Given the description of an element on the screen output the (x, y) to click on. 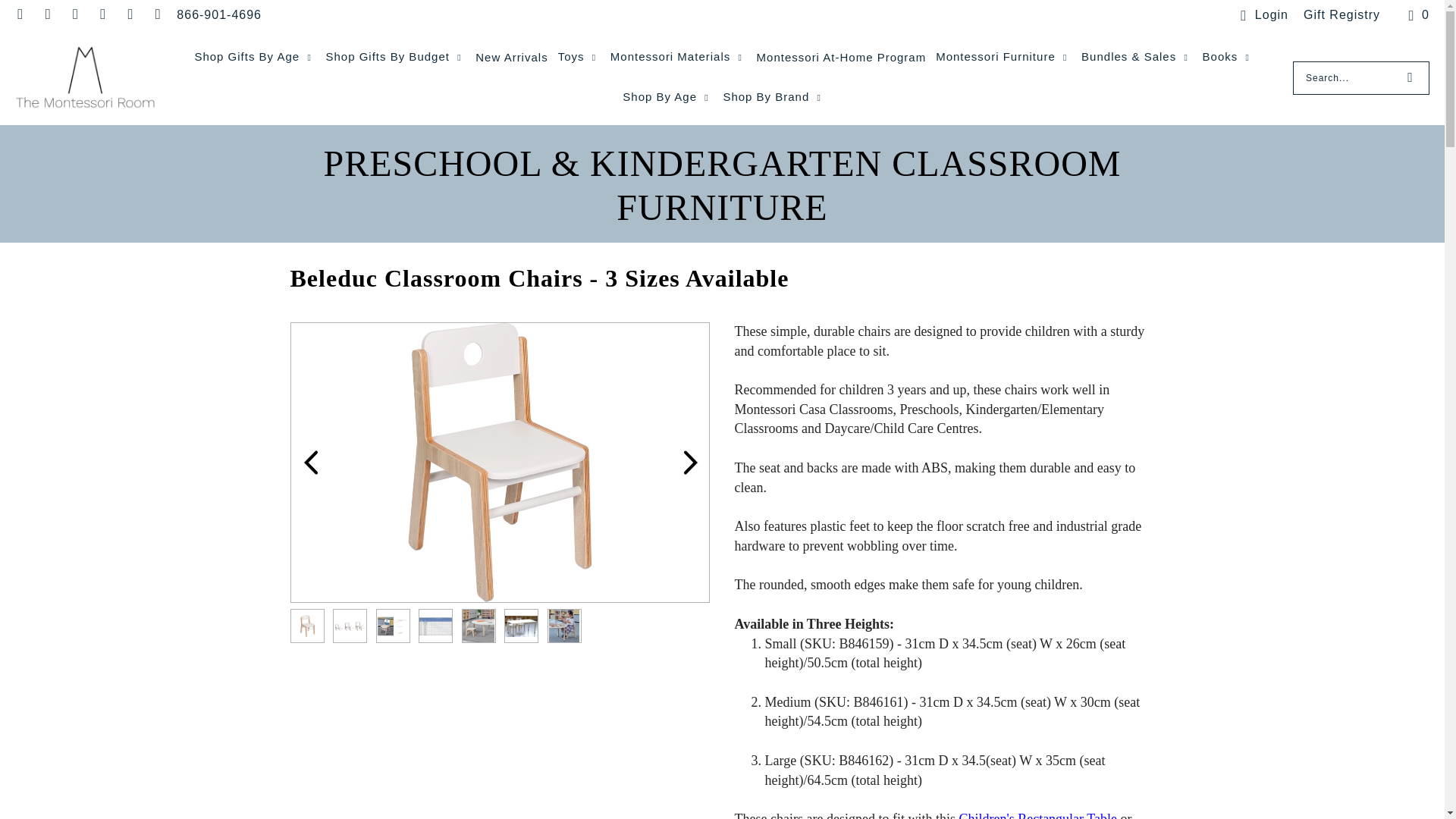
The Montessori Room on Facebook (47, 14)
Go to the next slide (690, 462)
The Montessori Room (84, 77)
Go to the previous slide (310, 462)
My Account  (1261, 14)
The Montessori Room on Instagram (74, 14)
Email The Montessori Room (19, 14)
The Montessori Room on YouTube (156, 14)
The Montessori Room on Pinterest (102, 14)
The Montessori Room on TikTok (129, 14)
